Given the description of an element on the screen output the (x, y) to click on. 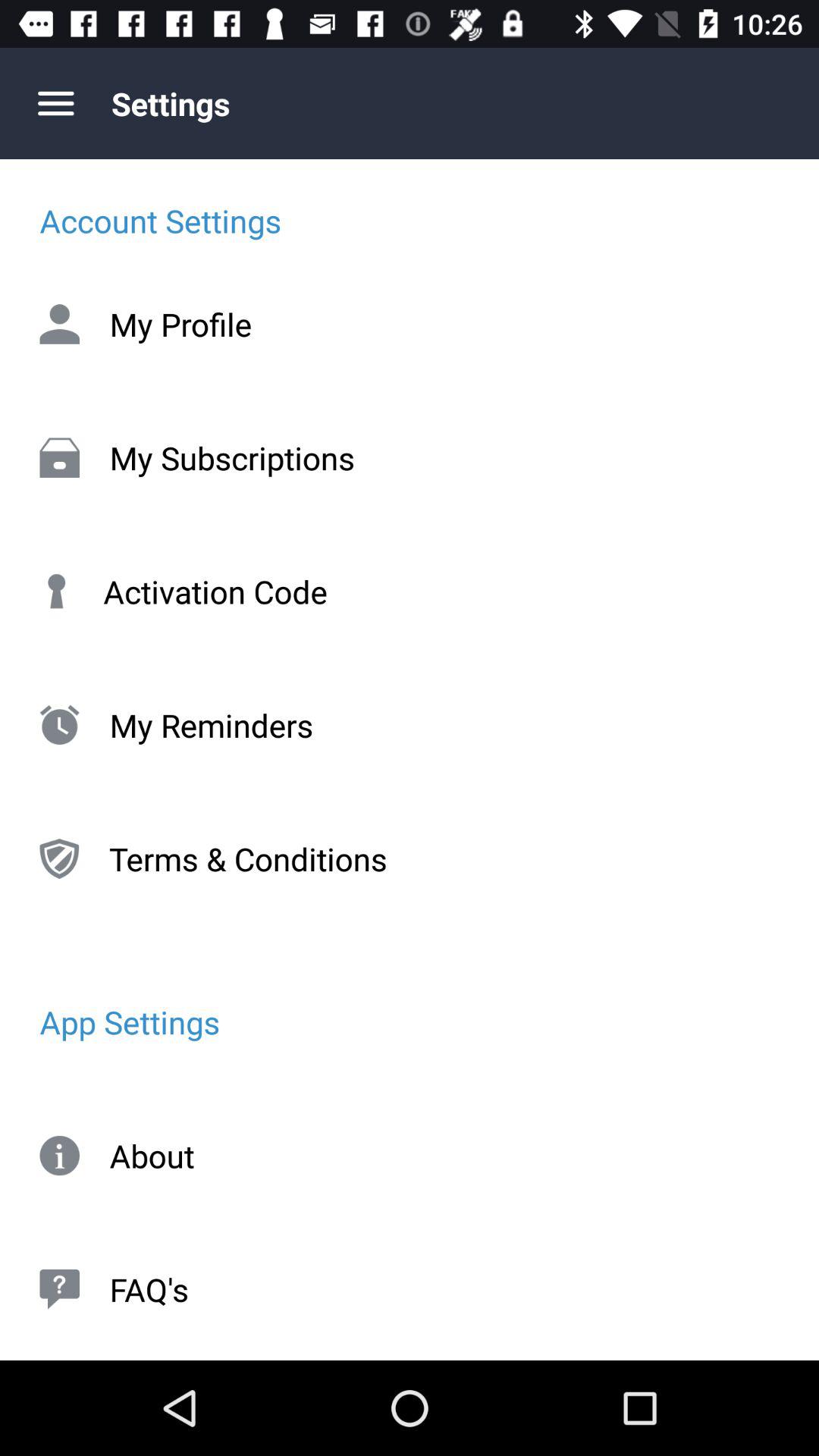
press the faq's icon (409, 1289)
